Given the description of an element on the screen output the (x, y) to click on. 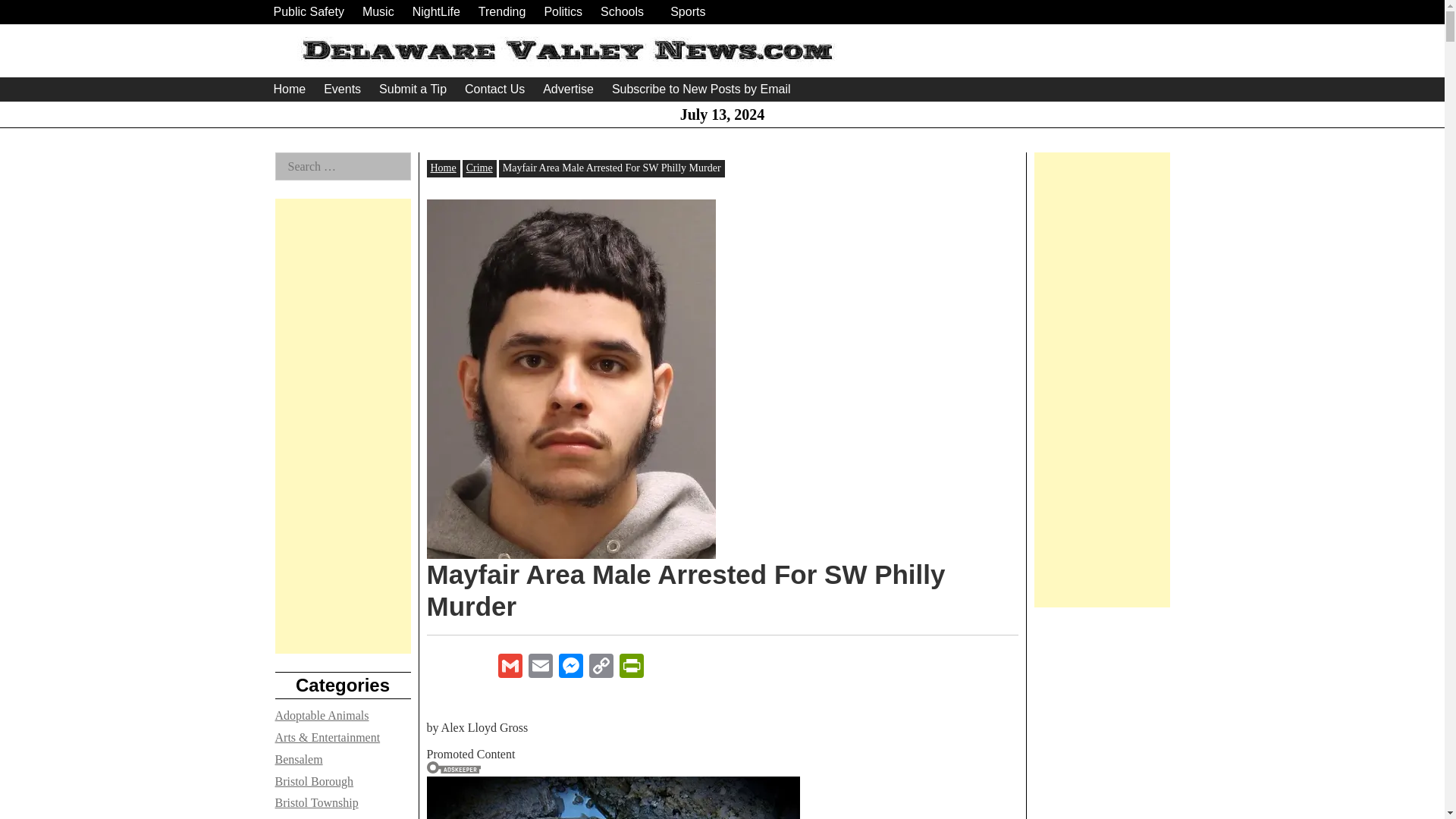
Subscribe to New Posts by Email (700, 88)
Crime (479, 167)
PrintFriendly (630, 667)
PrintFriendly (630, 667)
Trending (501, 12)
Contact Us (494, 88)
Gmail (509, 667)
NightLife (435, 12)
Home (288, 88)
Politics (562, 12)
